Given the description of an element on the screen output the (x, y) to click on. 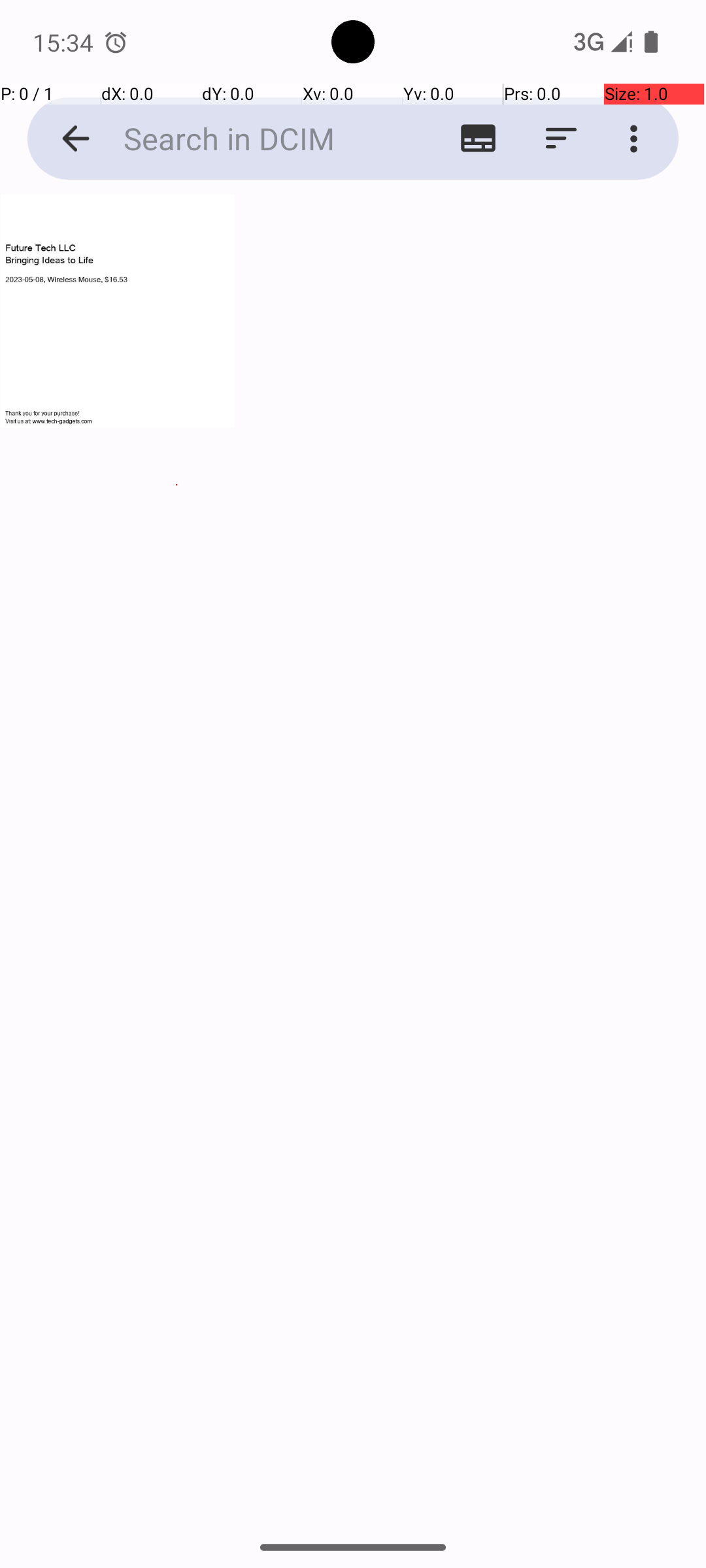
Search in DCIM Element type: android.widget.EditText (252, 138)
